Given the description of an element on the screen output the (x, y) to click on. 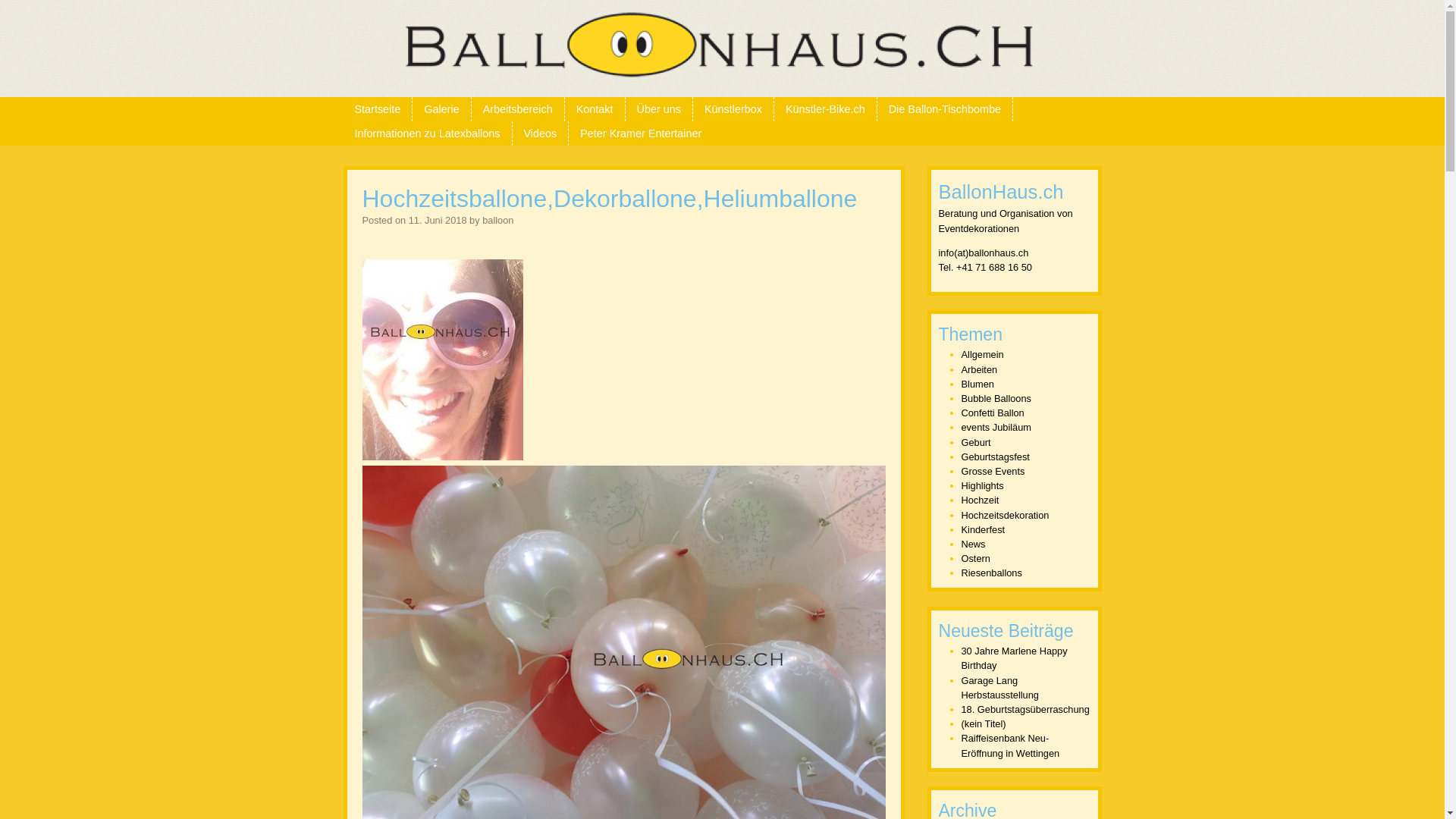
Highlights Element type: text (982, 485)
Garage Lang Herbstausstellung Element type: text (999, 687)
Geburtstagsfest Element type: text (995, 456)
Allgemein Element type: text (982, 354)
Arbeiten Element type: text (979, 369)
Arbeitsbereich Element type: text (517, 109)
Startseite Element type: text (376, 109)
Peter Kramer Entertainer Element type: text (640, 133)
30 Jahre Marlene Happy Birthday Element type: text (1014, 658)
News Element type: text (973, 543)
Skip to content Element type: text (40, 106)
Videos Element type: text (540, 133)
Kontakt Element type: text (594, 109)
Informationen zu Latexballons Element type: text (426, 133)
Hochzeitsdekoration Element type: text (1005, 514)
Hochzeit Element type: text (980, 499)
Kinderfest Element type: text (983, 529)
Confetti Ballon Element type: text (992, 412)
Galerie Element type: text (441, 109)
Ostern Element type: text (975, 558)
Grosse Events Element type: text (993, 470)
11. Juni 2018 Element type: text (437, 219)
Geburt Element type: text (976, 442)
Die Ballon-Tischbombe Element type: text (944, 109)
(kein Titel) Element type: text (983, 723)
Bubble Balloons Element type: text (996, 398)
Riesenballons Element type: text (991, 572)
Blumen Element type: text (977, 383)
balloon Element type: text (497, 219)
